Given the description of an element on the screen output the (x, y) to click on. 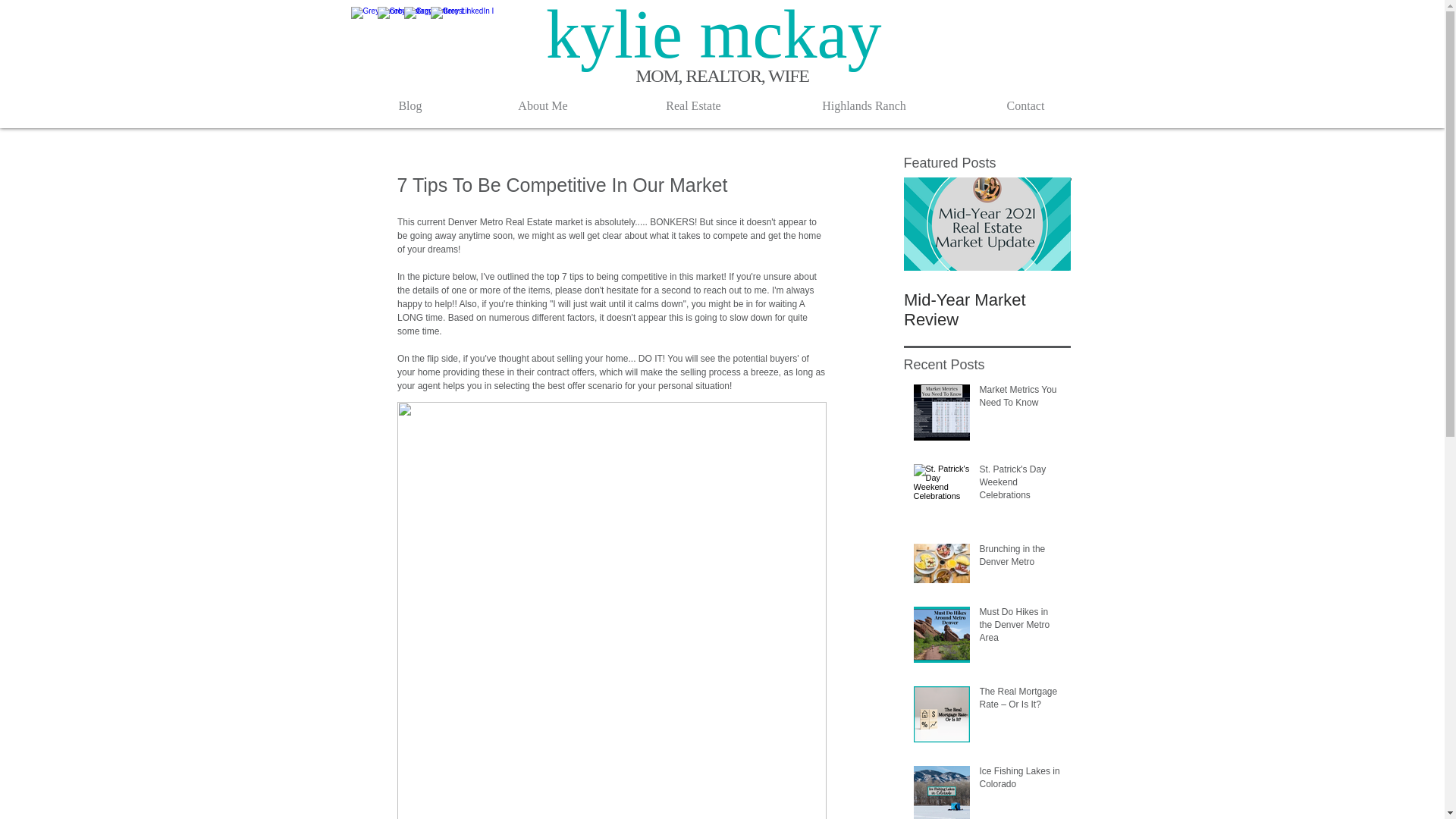
kylie mckay  (722, 36)
St. Patrick's Day Weekend Celebrations (1020, 484)
Brunching in the Denver Metro (1020, 558)
Must Do Hikes in the Denver Metro Area (1020, 628)
Ice Fishing Lakes in Colorado (1020, 780)
Real Estate (692, 105)
Mid-Year Market Review (987, 310)
Blog (409, 105)
Contact (1024, 105)
About Me (542, 105)
Market Metrics You Need To Know (1020, 399)
